Given the description of an element on the screen output the (x, y) to click on. 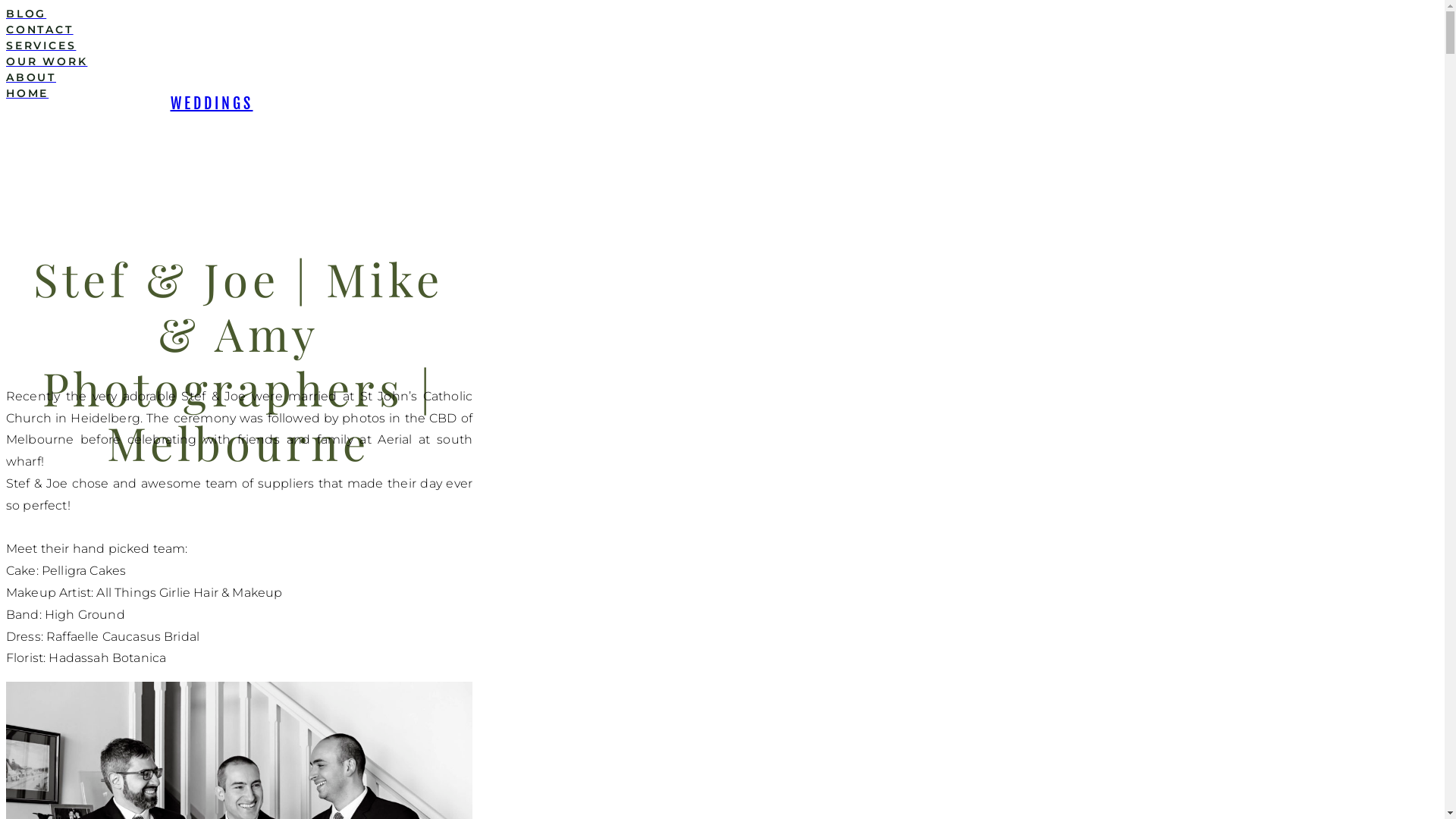
BLOG Element type: text (461, 13)
CONTACT Element type: text (461, 29)
OUR WORK Element type: text (461, 61)
HOME Element type: text (461, 93)
SERVICES Element type: text (461, 45)
ABOUT Element type: text (461, 77)
WEDDINGS Element type: text (210, 103)
